Given the description of an element on the screen output the (x, y) to click on. 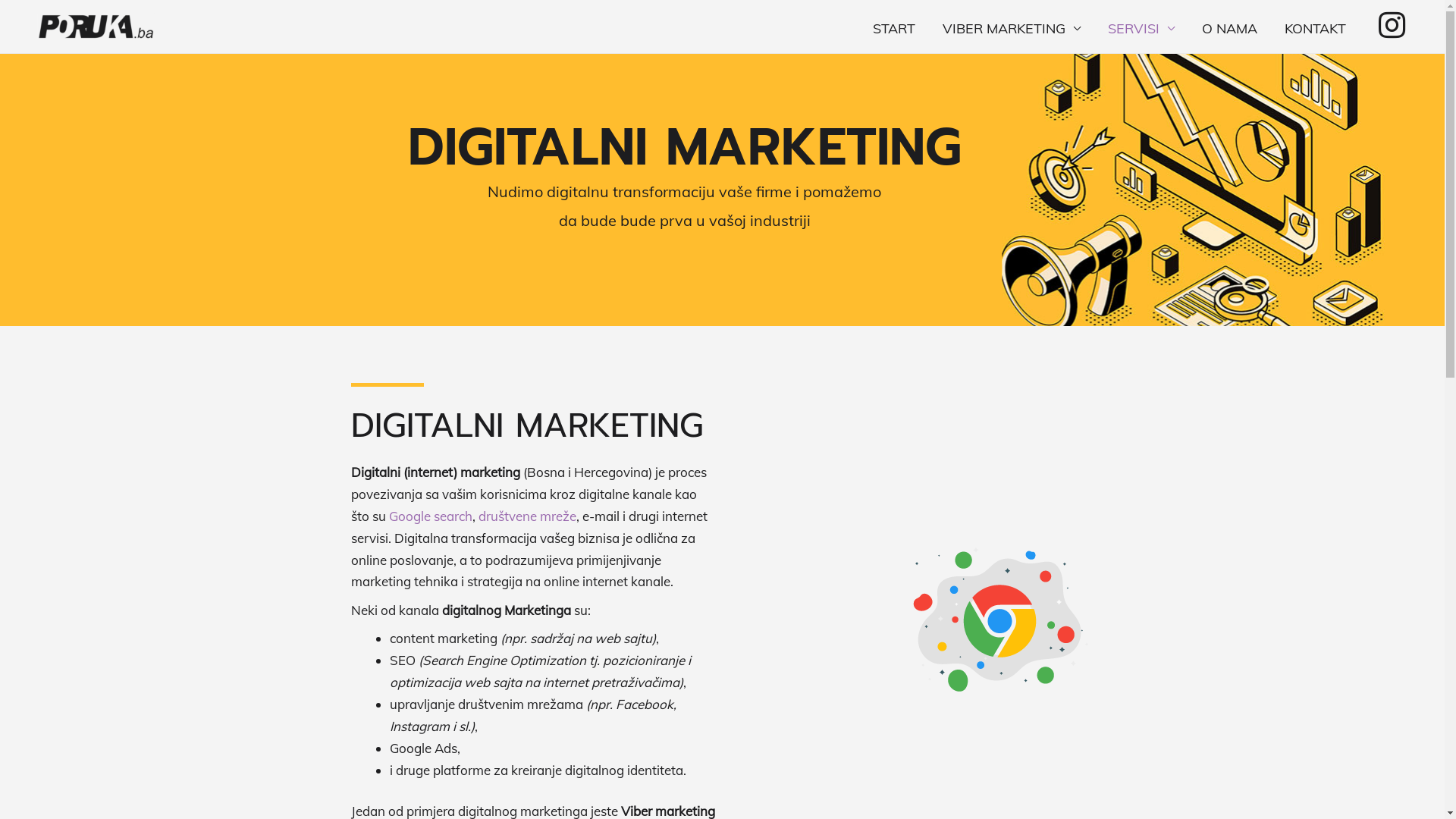
START Element type: text (893, 27)
Poruka.ba Instagram Element type: hover (1391, 24)
SERVISI Element type: text (1140, 27)
O NAMA Element type: text (1228, 27)
Google search Element type: text (429, 516)
VIBER MARKETING Element type: text (1010, 27)
p_main_net Element type: hover (996, 618)
KONTAKT Element type: text (1314, 27)
